Given the description of an element on the screen output the (x, y) to click on. 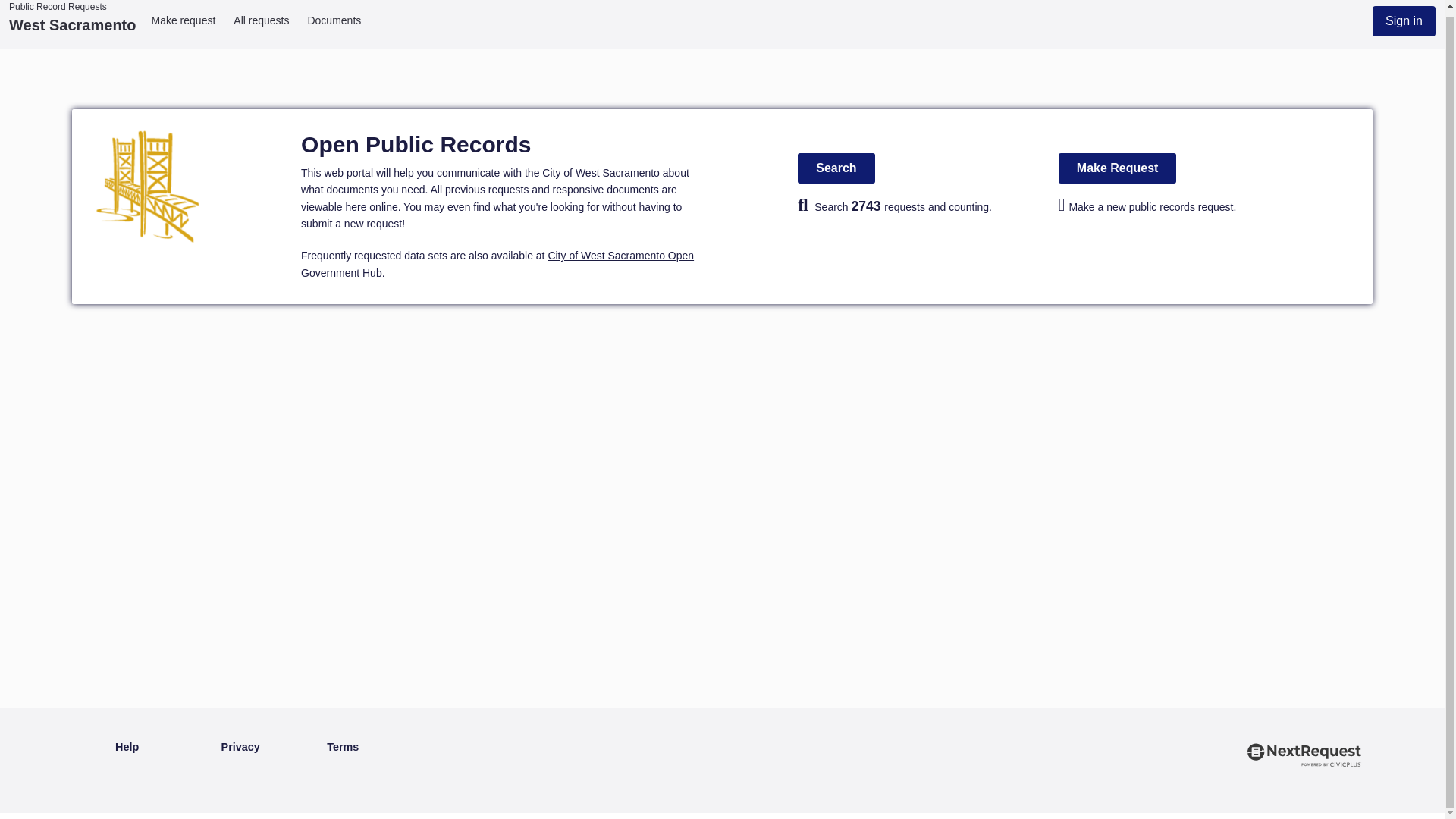
Make request (183, 20)
Sign in (1404, 20)
Terms (342, 747)
City of West Sacramento Open Government Hub (497, 263)
West Sacramento (70, 24)
Documents (334, 20)
Search (836, 168)
Help (126, 747)
Privacy (240, 747)
West Sacramento (70, 24)
